Given the description of an element on the screen output the (x, y) to click on. 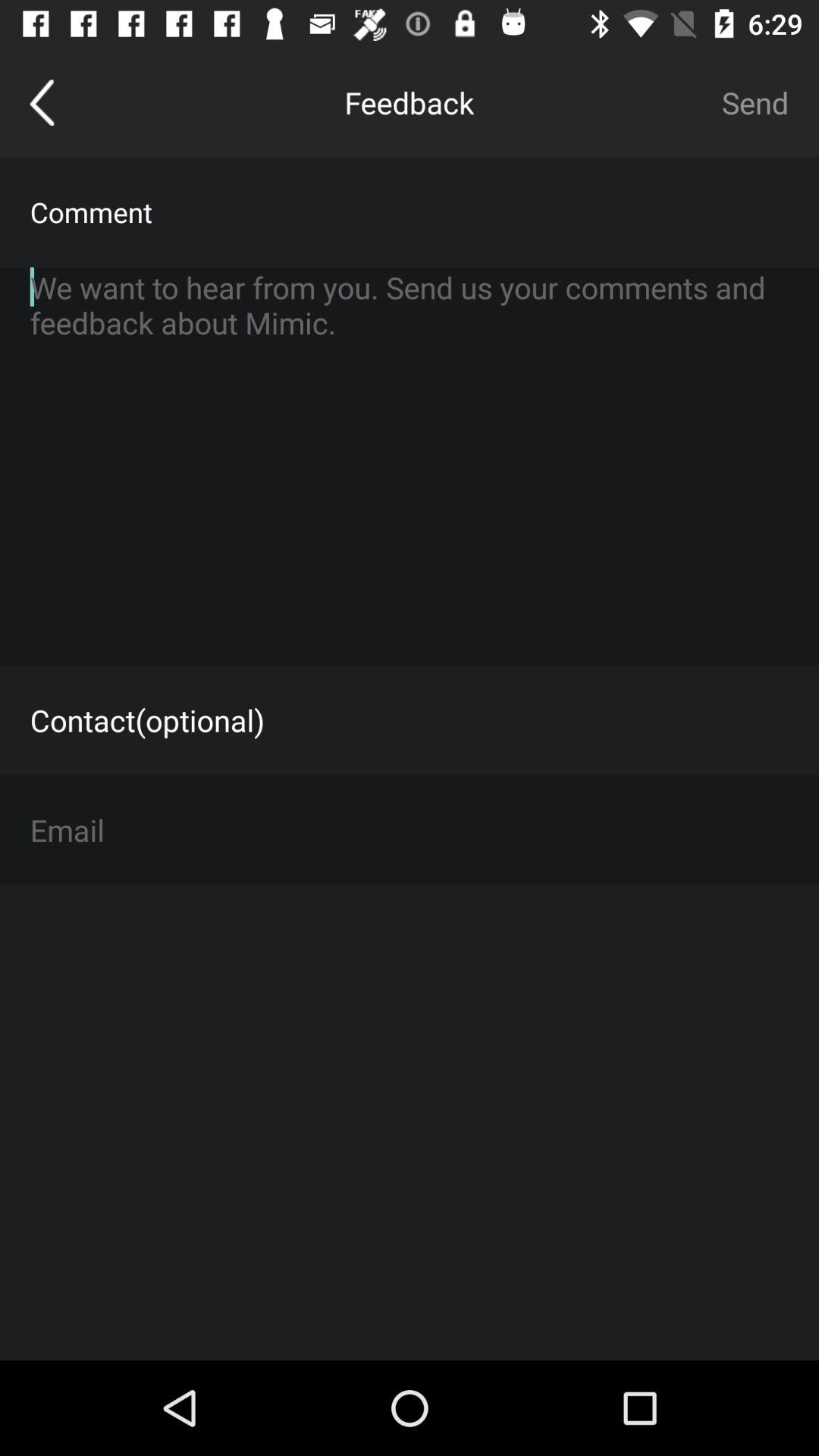
go to previous (42, 102)
